Given the description of an element on the screen output the (x, y) to click on. 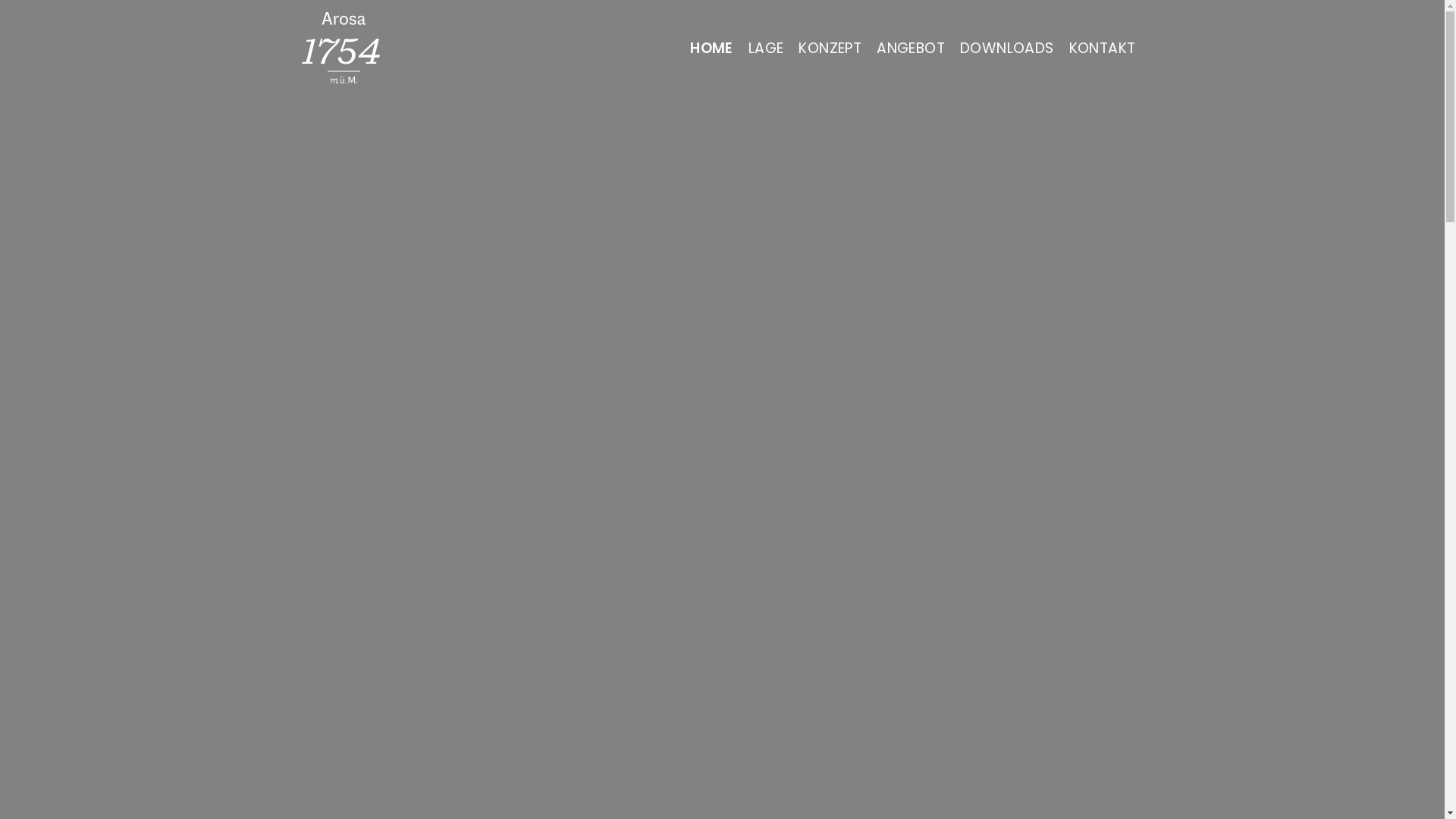
KONZEPT Element type: text (829, 48)
KONTAKT Element type: text (1102, 48)
ANGEBOT Element type: text (910, 48)
DOWNLOADS Element type: text (1007, 48)
LAGE Element type: text (766, 48)
HOME Element type: text (711, 48)
